Given the description of an element on the screen output the (x, y) to click on. 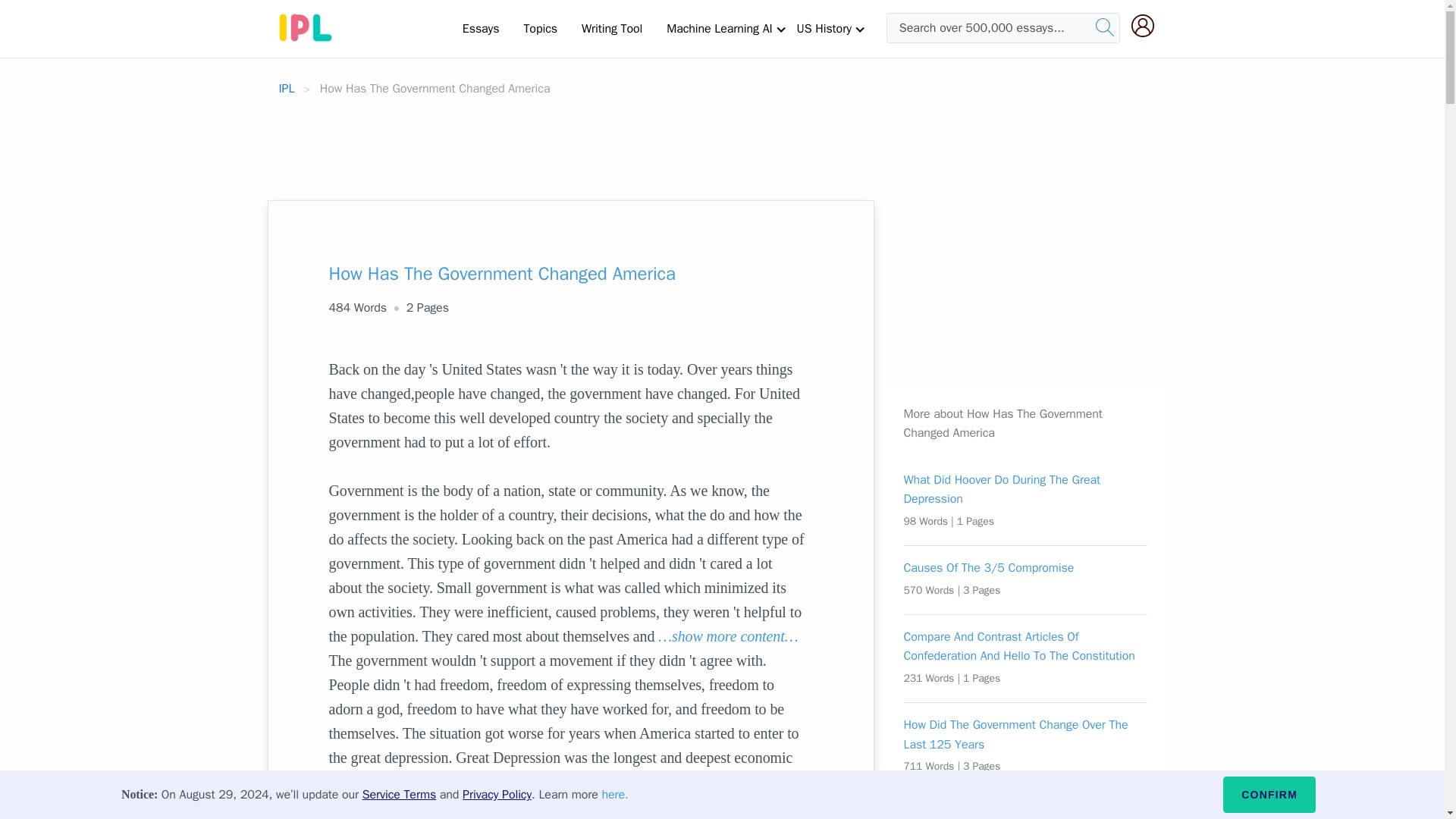
US History (823, 28)
Essays (480, 28)
Topics (540, 28)
IPL (287, 88)
Writing Tool (611, 28)
Machine Learning AI (718, 28)
